Given the description of an element on the screen output the (x, y) to click on. 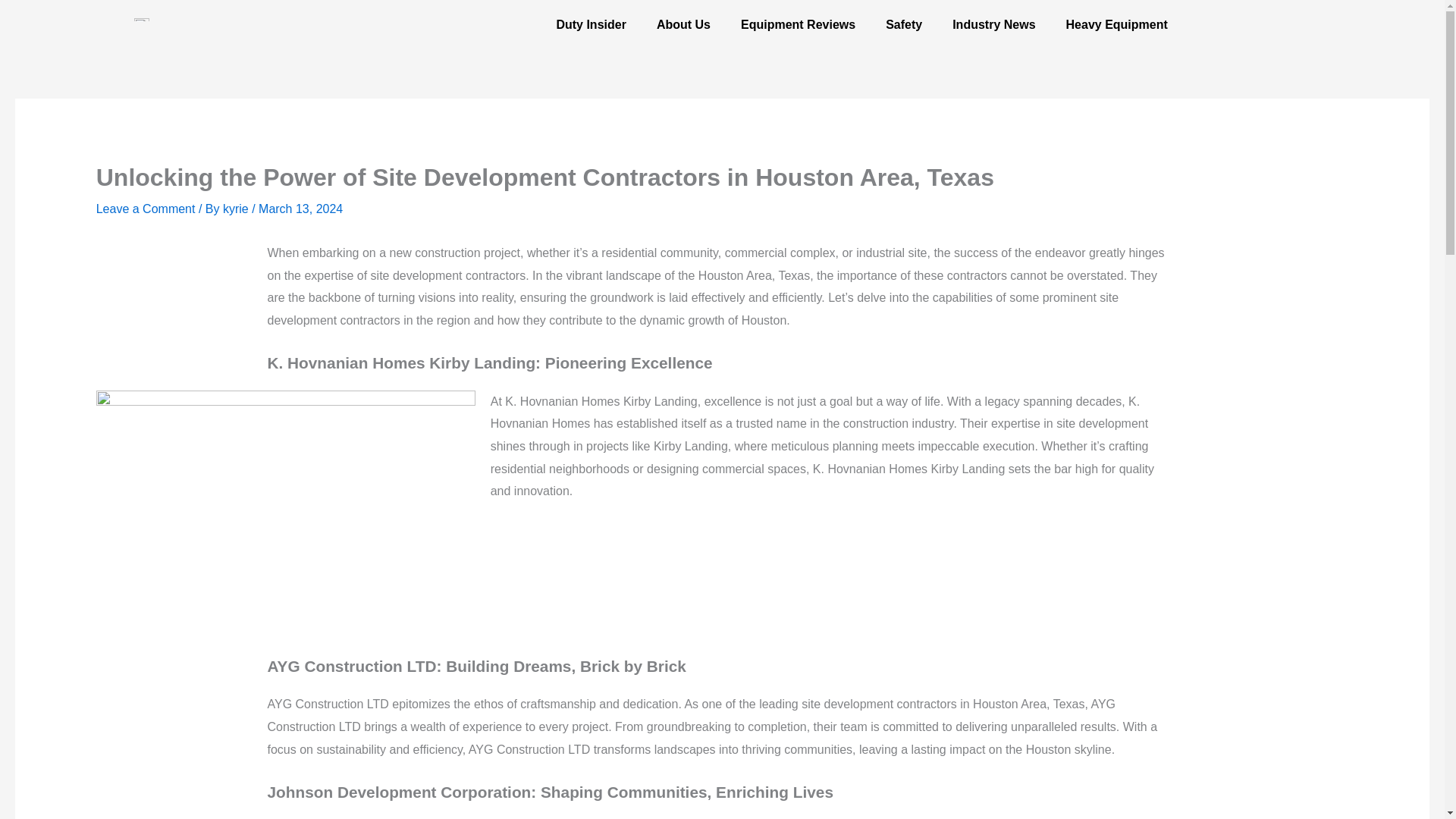
kyrie (236, 208)
About Us (683, 24)
Duty Insider (590, 24)
View all posts by kyrie (236, 208)
Equipment Reviews (797, 24)
Leave a Comment (145, 208)
Heavy Equipment (1116, 24)
Industry News (993, 24)
Safety (903, 24)
